Given the description of an element on the screen output the (x, y) to click on. 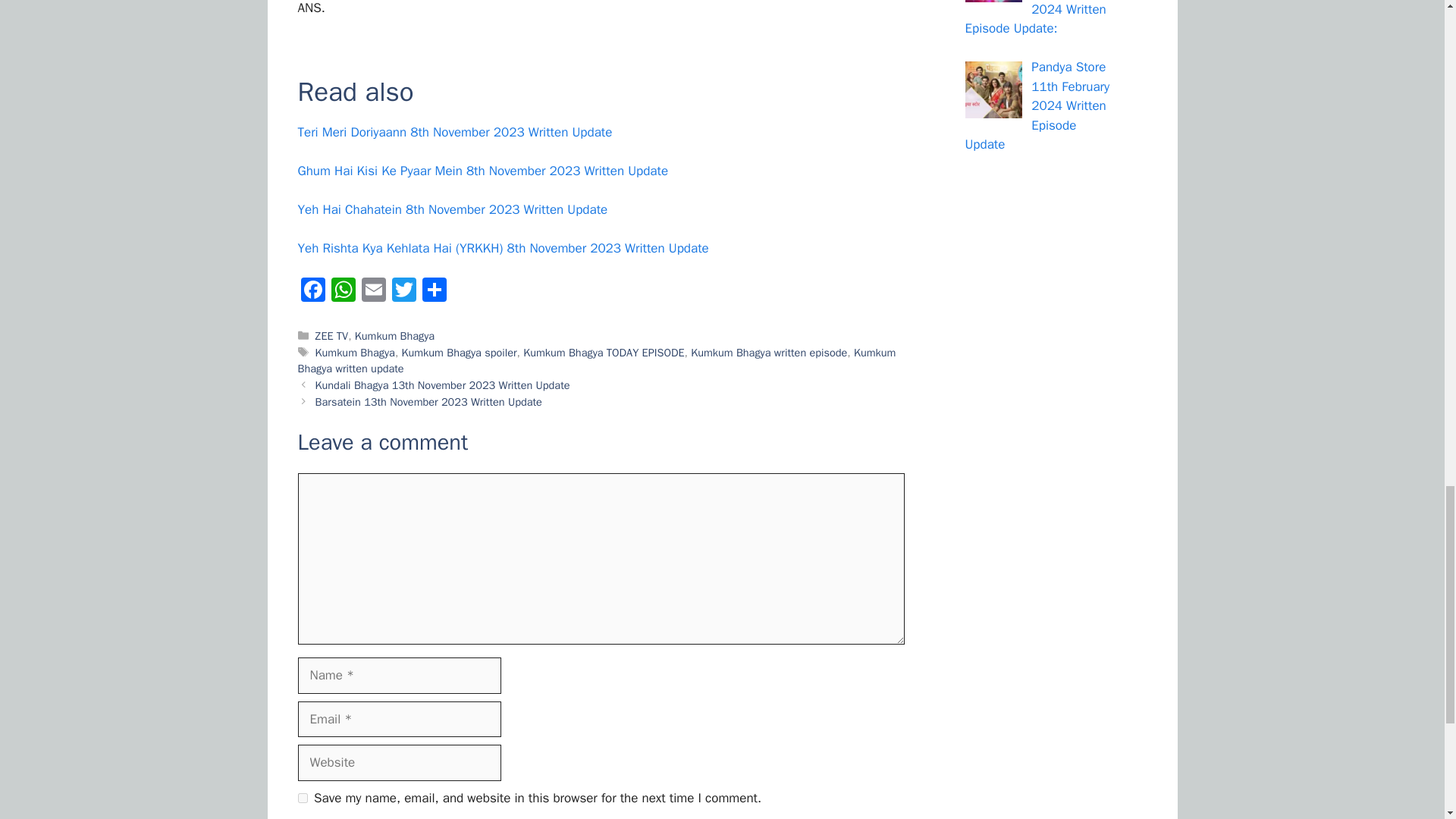
Facebook (312, 291)
Email (373, 291)
WhatsApp (342, 291)
yes (302, 798)
Twitter (403, 291)
